Given the description of an element on the screen output the (x, y) to click on. 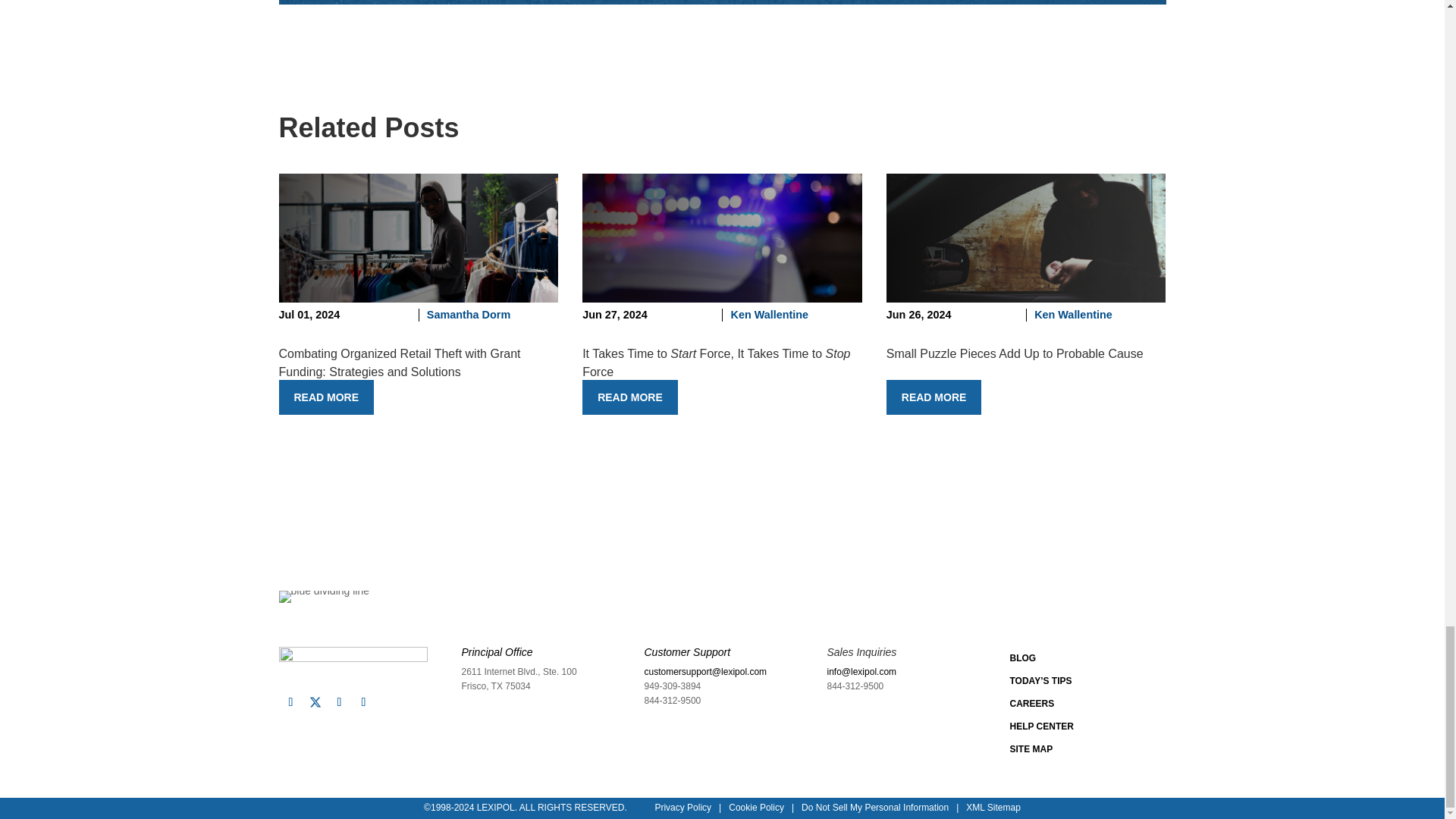
Follow on Youtube (363, 702)
footer-top (324, 596)
Follow on LinkedIn (339, 702)
Follow on  (314, 702)
Lexipol-logo-blue (353, 662)
Follow on Facebook (290, 702)
